Given the description of an element on the screen output the (x, y) to click on. 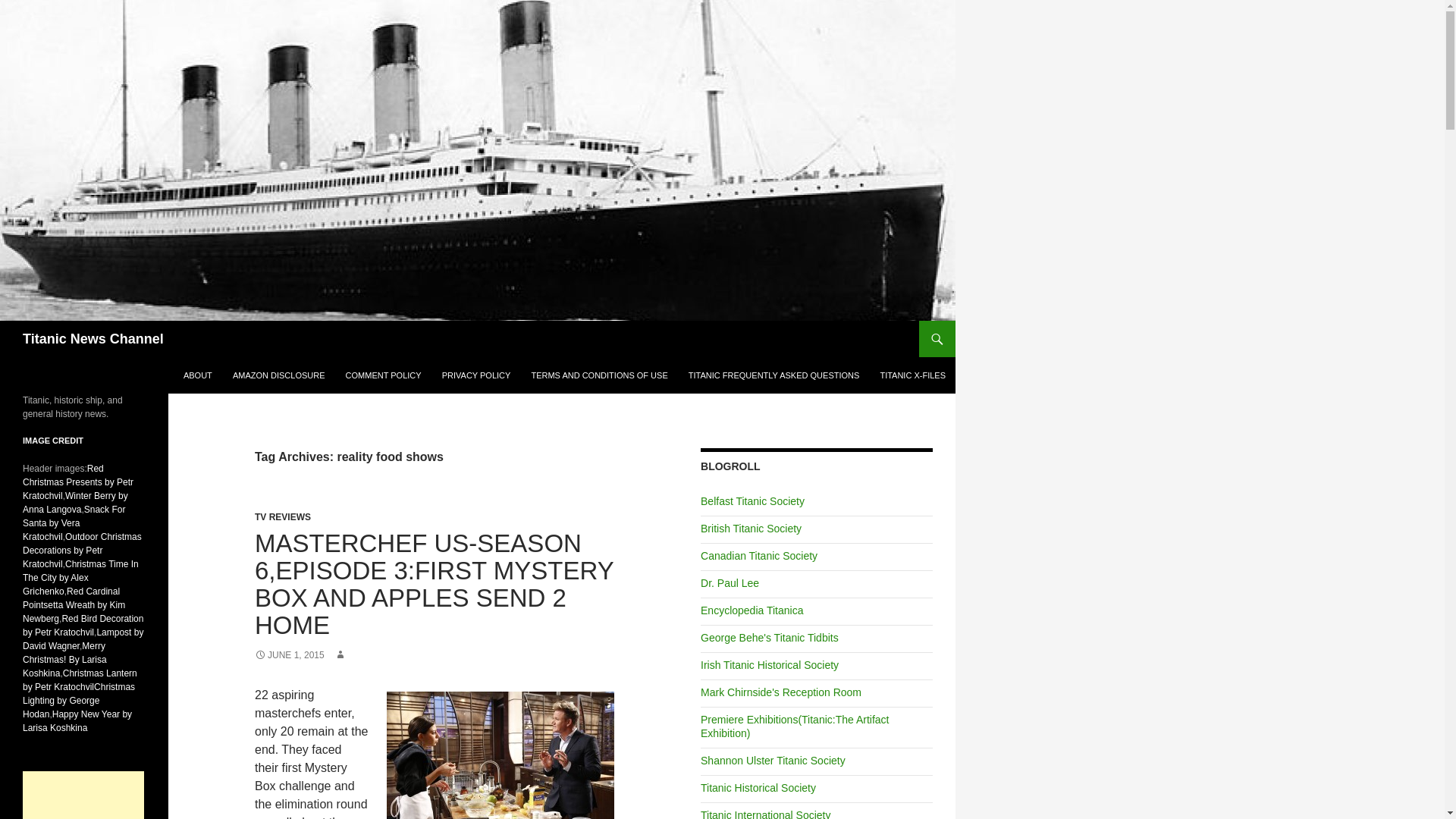
TITANIC X-FILES (912, 375)
AMAZON DISCLOSURE (279, 375)
PRIVACY POLICY (475, 375)
TERMS AND CONDITIONS OF USE (599, 375)
TV REVIEWS (282, 516)
Titanic News Channel (93, 339)
